Given the description of an element on the screen output the (x, y) to click on. 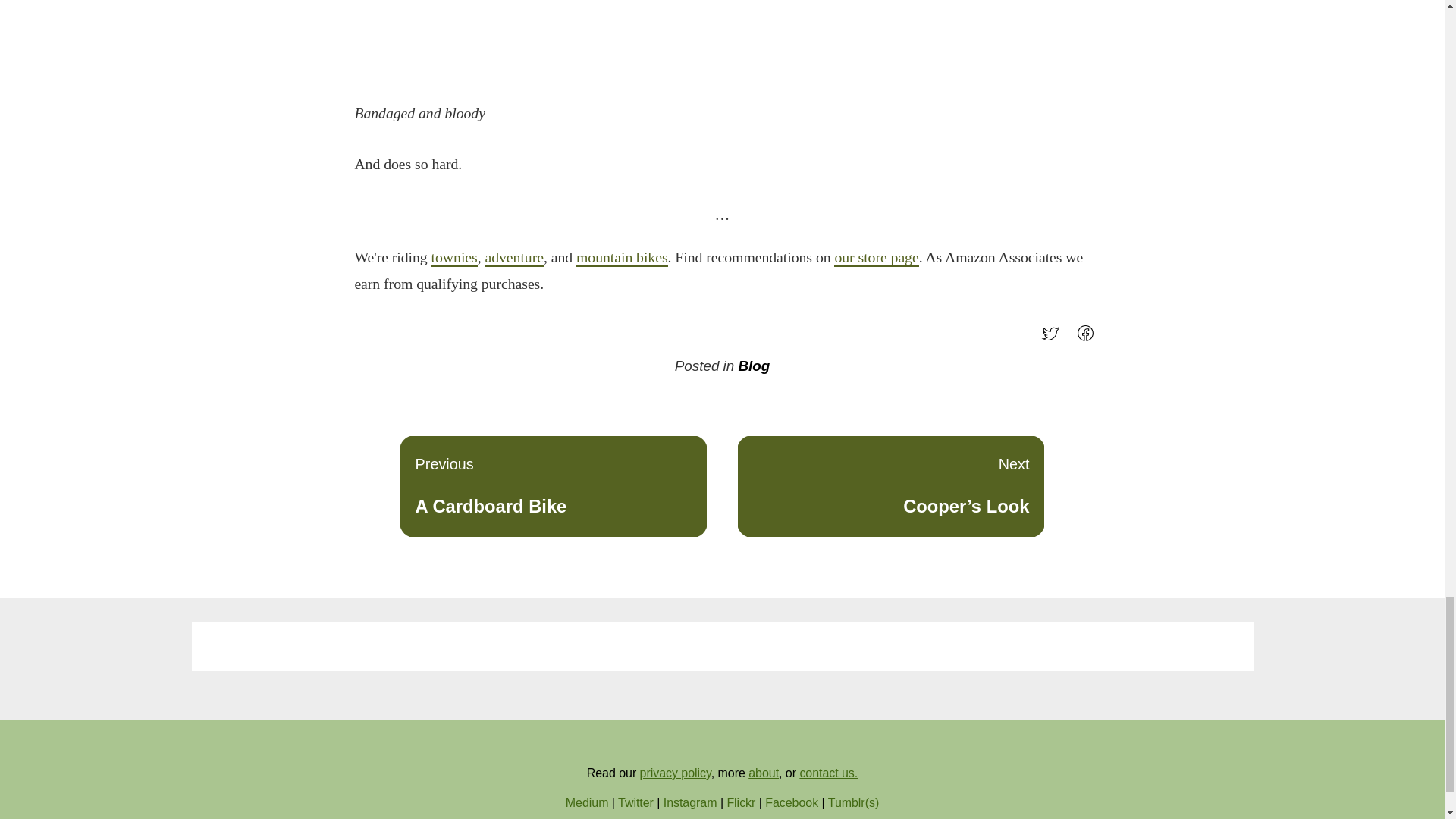
Share on Facebook (1089, 338)
our store page (876, 257)
Blog (754, 365)
contact us. (828, 772)
Tweet (1054, 338)
Twitter (635, 802)
mountain bikes (552, 485)
Flickr (622, 257)
townies (740, 802)
